Given the description of an element on the screen output the (x, y) to click on. 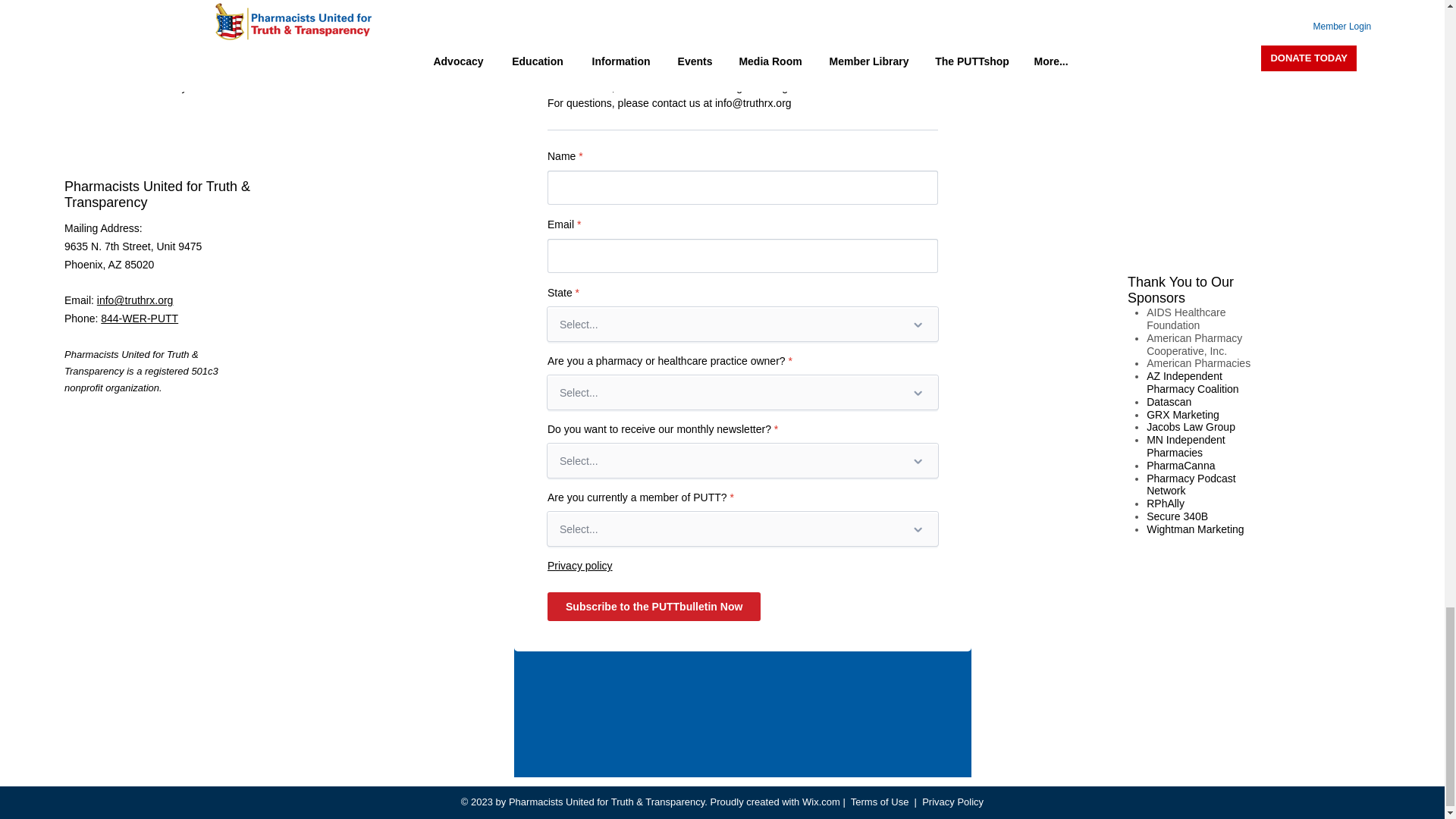
844-WER-PUTT (138, 318)
PUTT Privacy Policy (112, 59)
Information (90, 5)
PUTT Social Media Policy (125, 87)
Support Reform (101, 31)
